Given the description of an element on the screen output the (x, y) to click on. 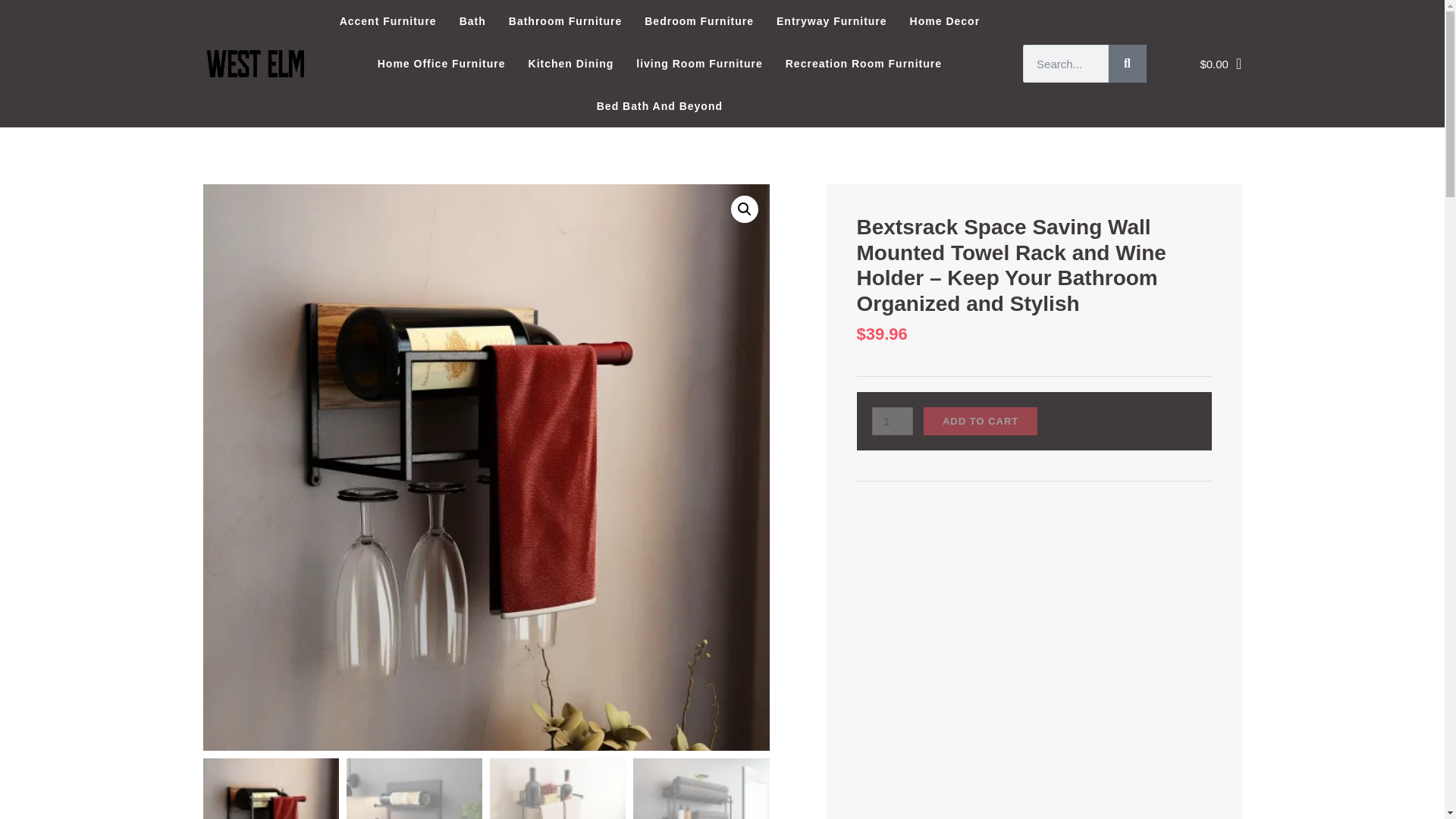
Kitchen Dining (571, 63)
Recreation Room Furniture (863, 63)
Bathroom Furniture (565, 21)
Entryway Furniture (831, 21)
Home Office Furniture (441, 63)
ADD TO CART (979, 420)
1 (892, 420)
Bedroom Furniture (699, 21)
Bed Bath And Beyond (659, 106)
Bath (472, 21)
Home Decor (944, 21)
Accent Furniture (388, 21)
living Room Furniture (698, 63)
